Given the description of an element on the screen output the (x, y) to click on. 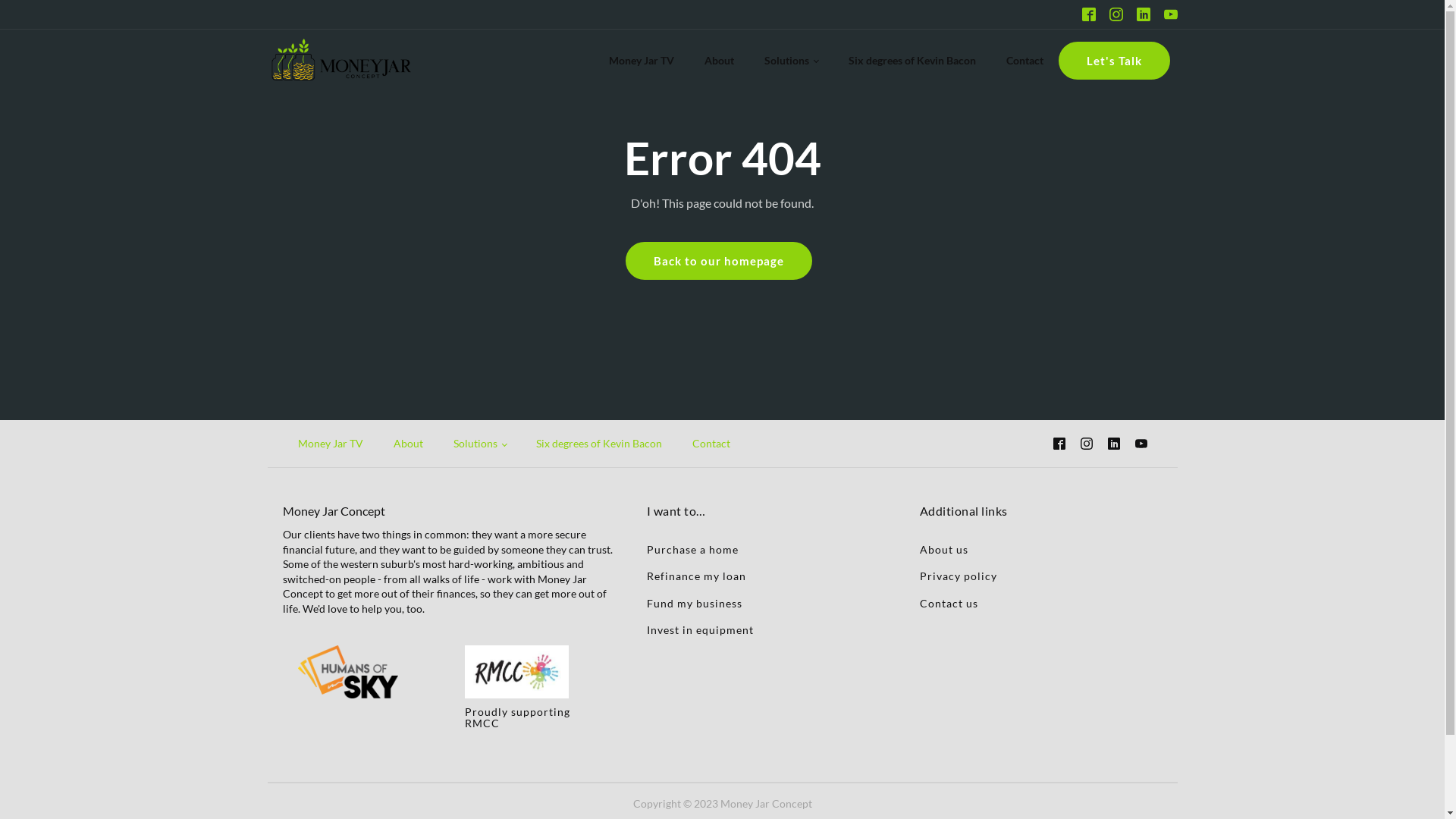
Refinance my loan Element type: text (695, 575)
Contact us Element type: text (948, 602)
Six degrees of Kevin Bacon Element type: text (911, 60)
Privacy policy Element type: text (957, 575)
Solutions Element type: text (791, 60)
Contact Element type: text (711, 443)
About us Element type: text (943, 549)
Let's Talk Element type: text (1114, 60)
Six degrees of Kevin Bacon Element type: text (598, 443)
Solutions Element type: text (479, 443)
About Element type: text (407, 443)
About Element type: text (719, 60)
Fund my business Element type: text (693, 602)
Money Jar TV Element type: text (329, 443)
Proudly supporting RMCC Element type: text (532, 717)
Money Jar TV Element type: text (641, 60)
Purchase a home Element type: text (691, 549)
Back to our homepage Element type: text (717, 260)
Invest in equipment Element type: text (699, 629)
Contact Element type: text (1023, 60)
